Given the description of an element on the screen output the (x, y) to click on. 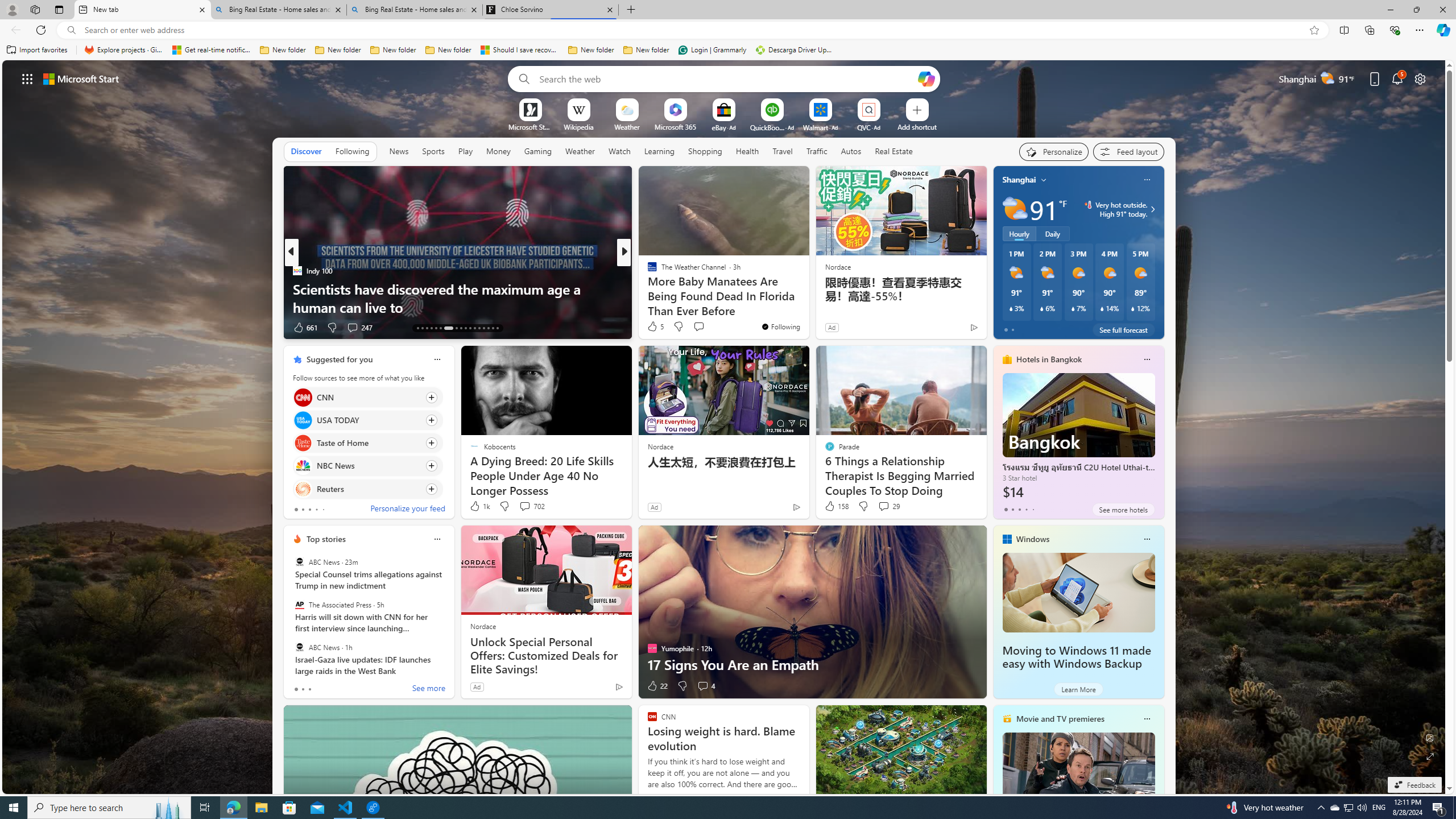
Forge of Empires (668, 288)
View comments 247 Comment (352, 327)
AutomationID: tab-39 (483, 328)
View comments 25 Comment (698, 327)
Class: icon-img (1146, 718)
AutomationID: tab-24 (474, 328)
Play (465, 151)
AutomationID: tab-17 (435, 328)
